Given the description of an element on the screen output the (x, y) to click on. 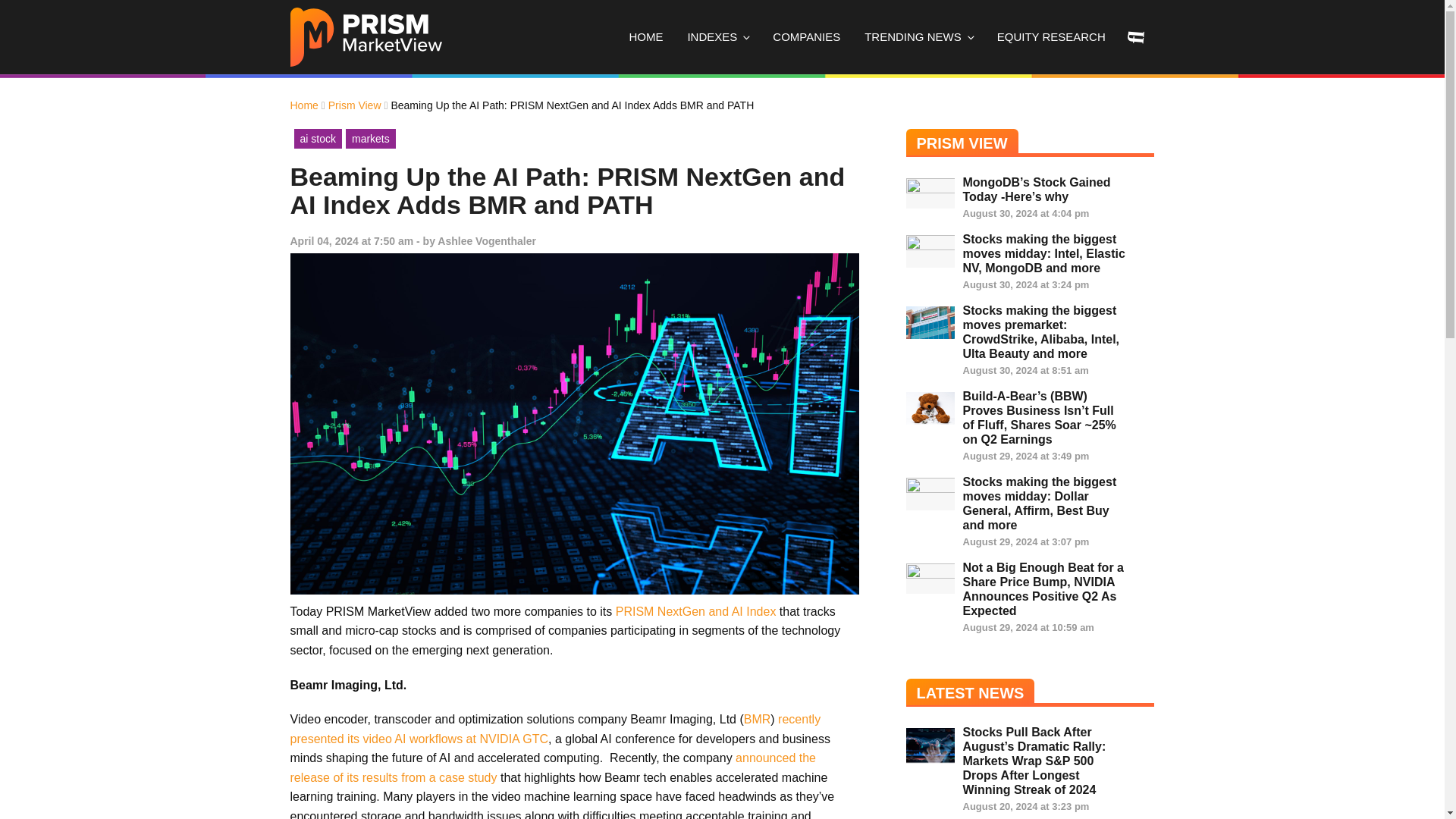
TRENDING NEWS (918, 37)
COMPANIES (805, 37)
INDEXES (717, 37)
HOME (645, 37)
EQUITY RESEARCH (1051, 37)
